Given the description of an element on the screen output the (x, y) to click on. 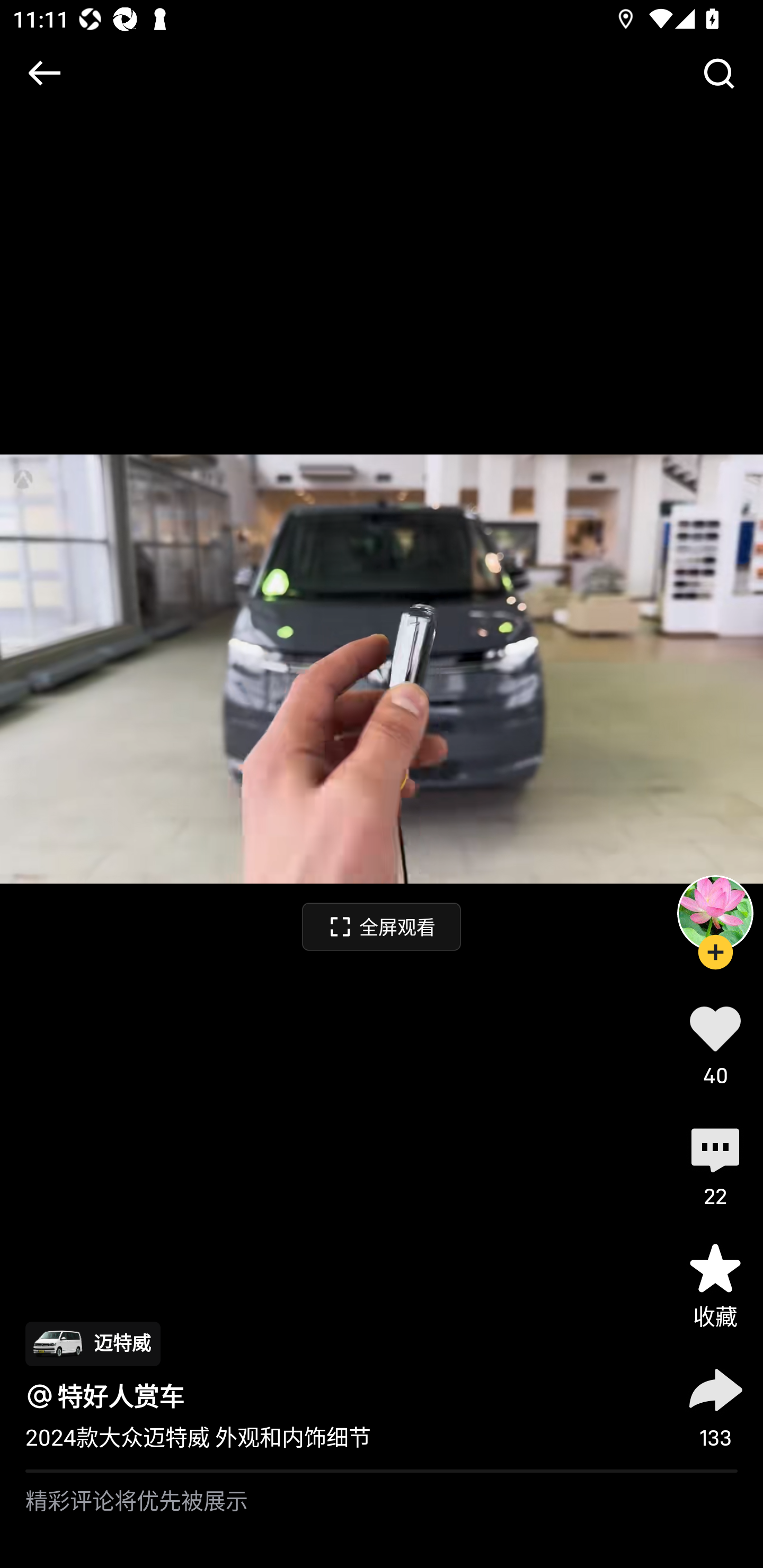
 (44, 72)
 (718, 72)
 全屏观看 (381, 926)
22 (715, 1164)
收藏 (715, 1284)
迈特威 (92, 1343)
133 (715, 1405)
特好人赏车 (120, 1396)
2024款大众迈特威 外观和内饰细节 (197, 1437)
精彩评论将优先被展示 (381, 1520)
